Given the description of an element on the screen output the (x, y) to click on. 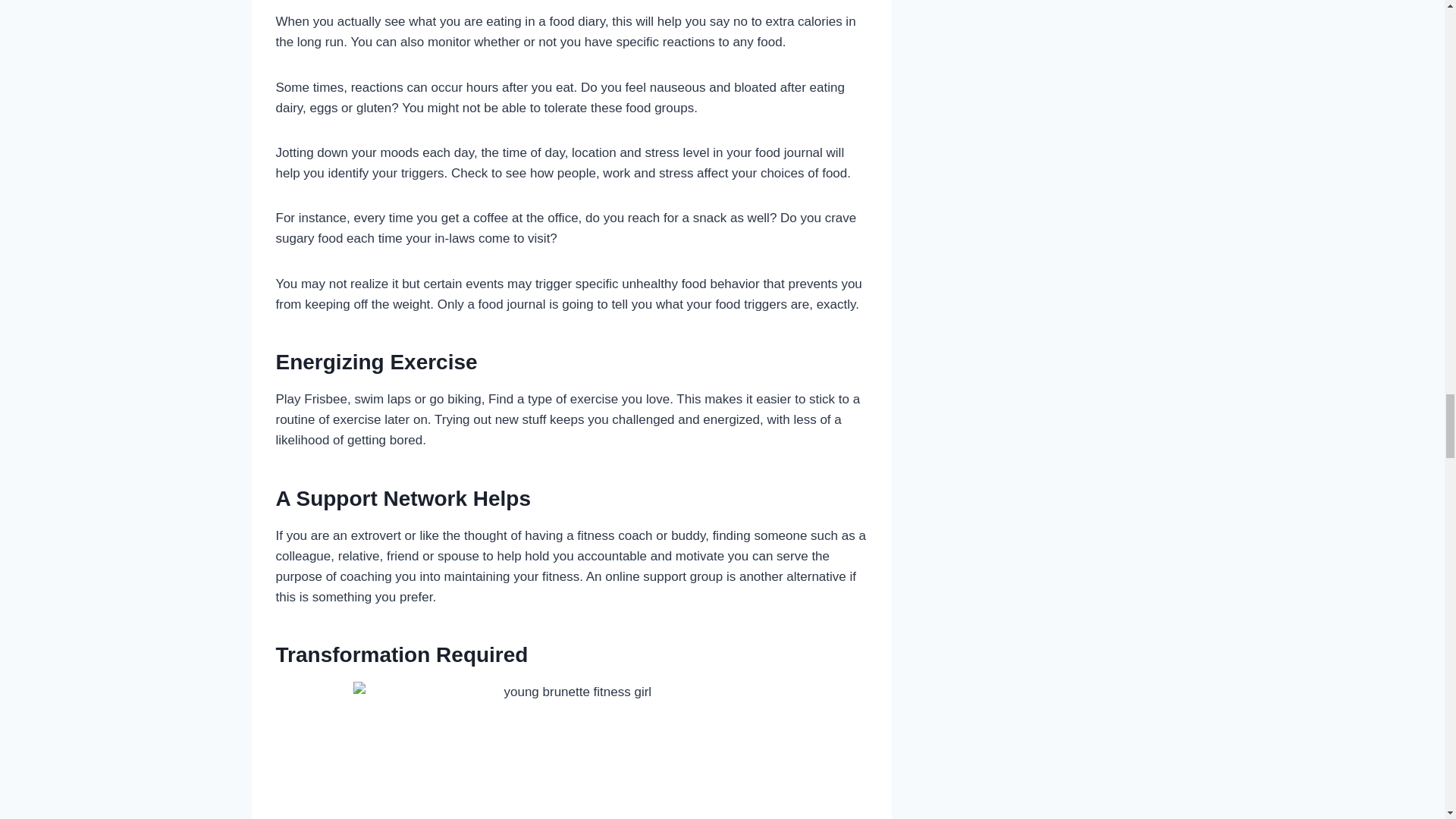
Why Is it Hard To Maintain Weight Loss? 5 (571, 750)
